Given the description of an element on the screen output the (x, y) to click on. 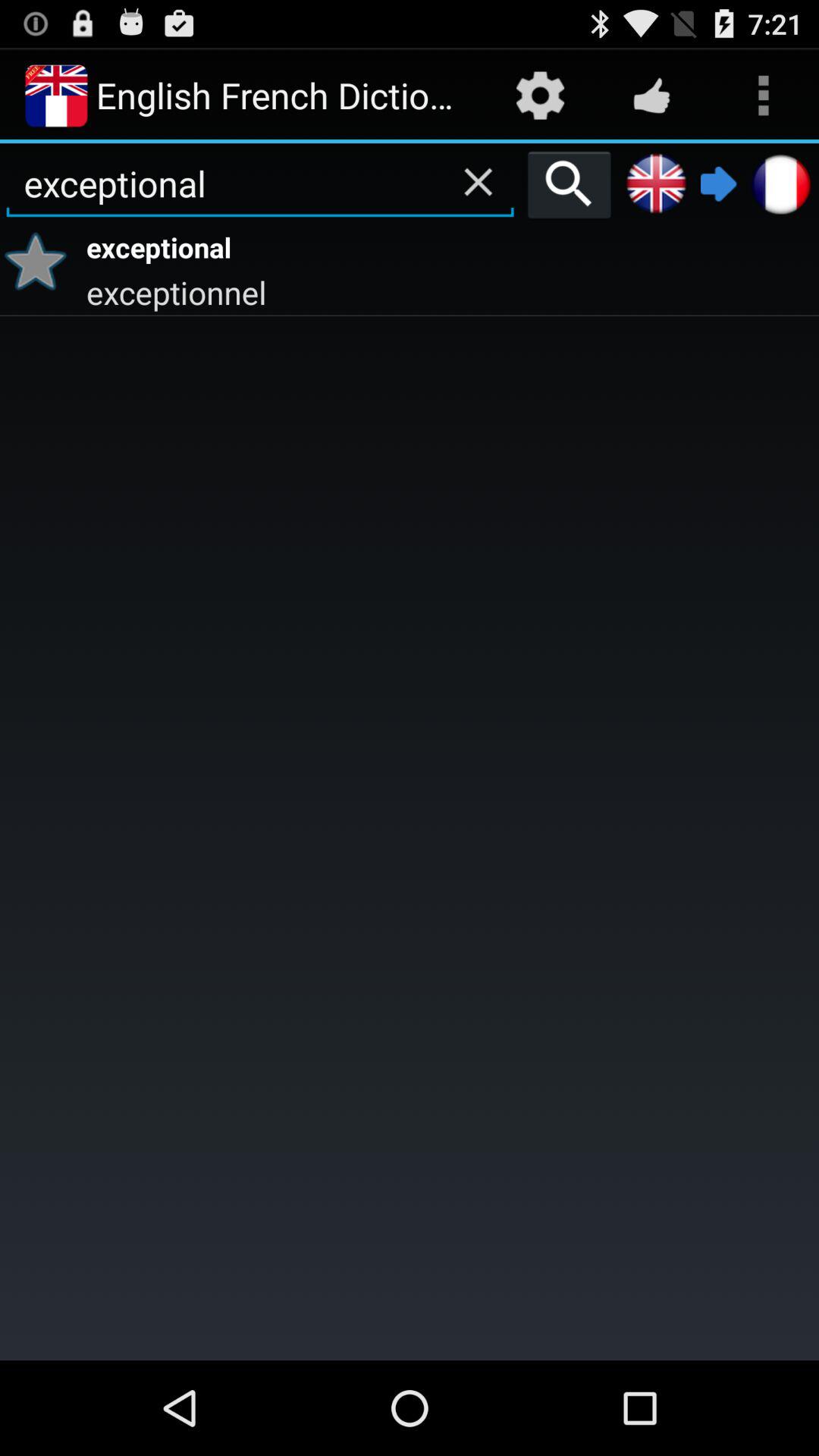
turn on item to the right of exceptional (569, 184)
